Given the description of an element on the screen output the (x, y) to click on. 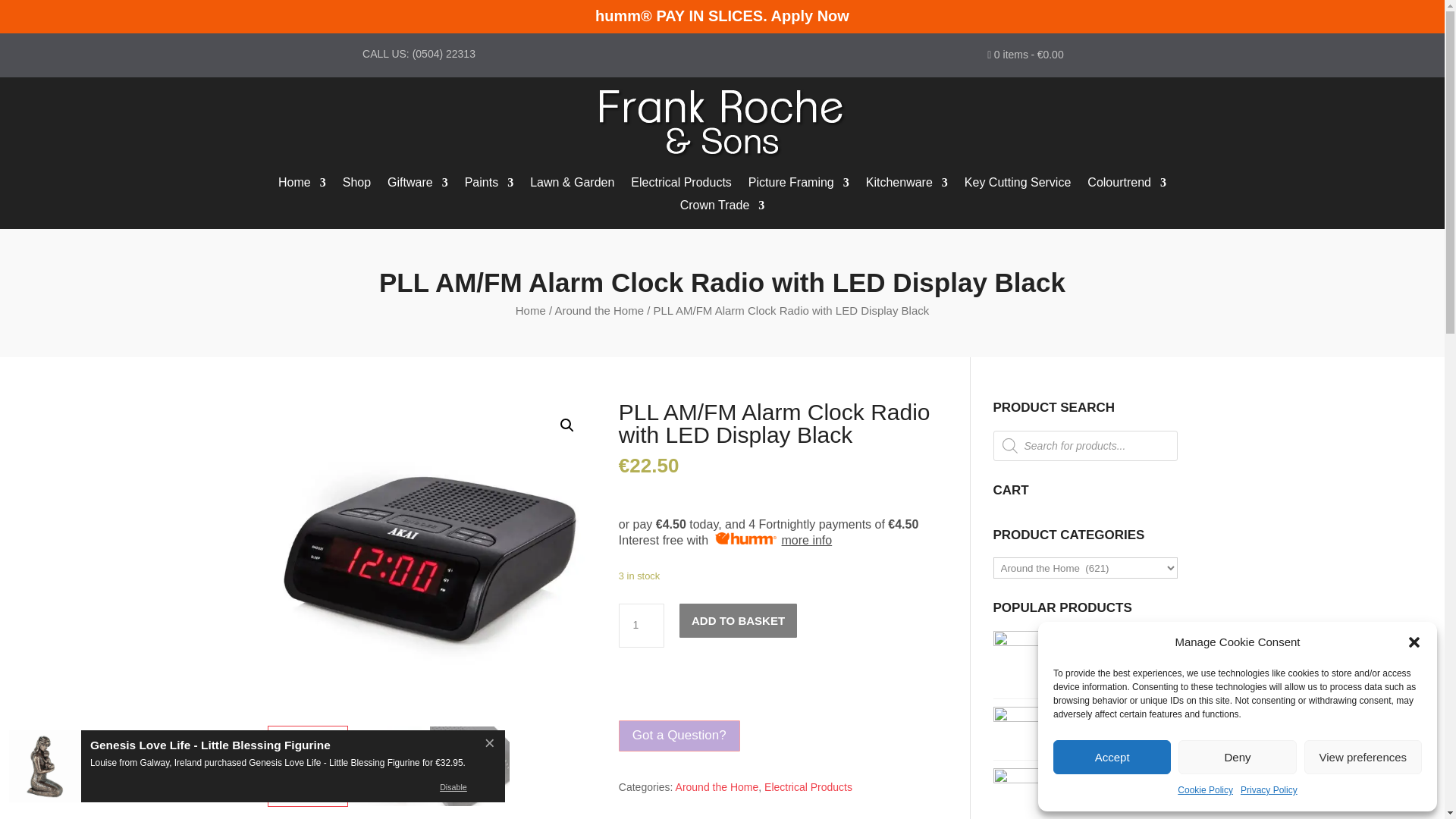
View preferences (1363, 756)
PayPal (780, 694)
Home (302, 185)
Privacy Policy (1268, 791)
AKAI ALARM CLOCK RADIO (428, 563)
Accept (1111, 756)
Giftware (417, 185)
Shop (356, 185)
Got a Question? (678, 735)
Start shopping (1024, 58)
Cookie Policy (1205, 791)
Deny (1236, 756)
Logo (721, 123)
1 (640, 625)
Apply Now (809, 15)
